Given the description of an element on the screen output the (x, y) to click on. 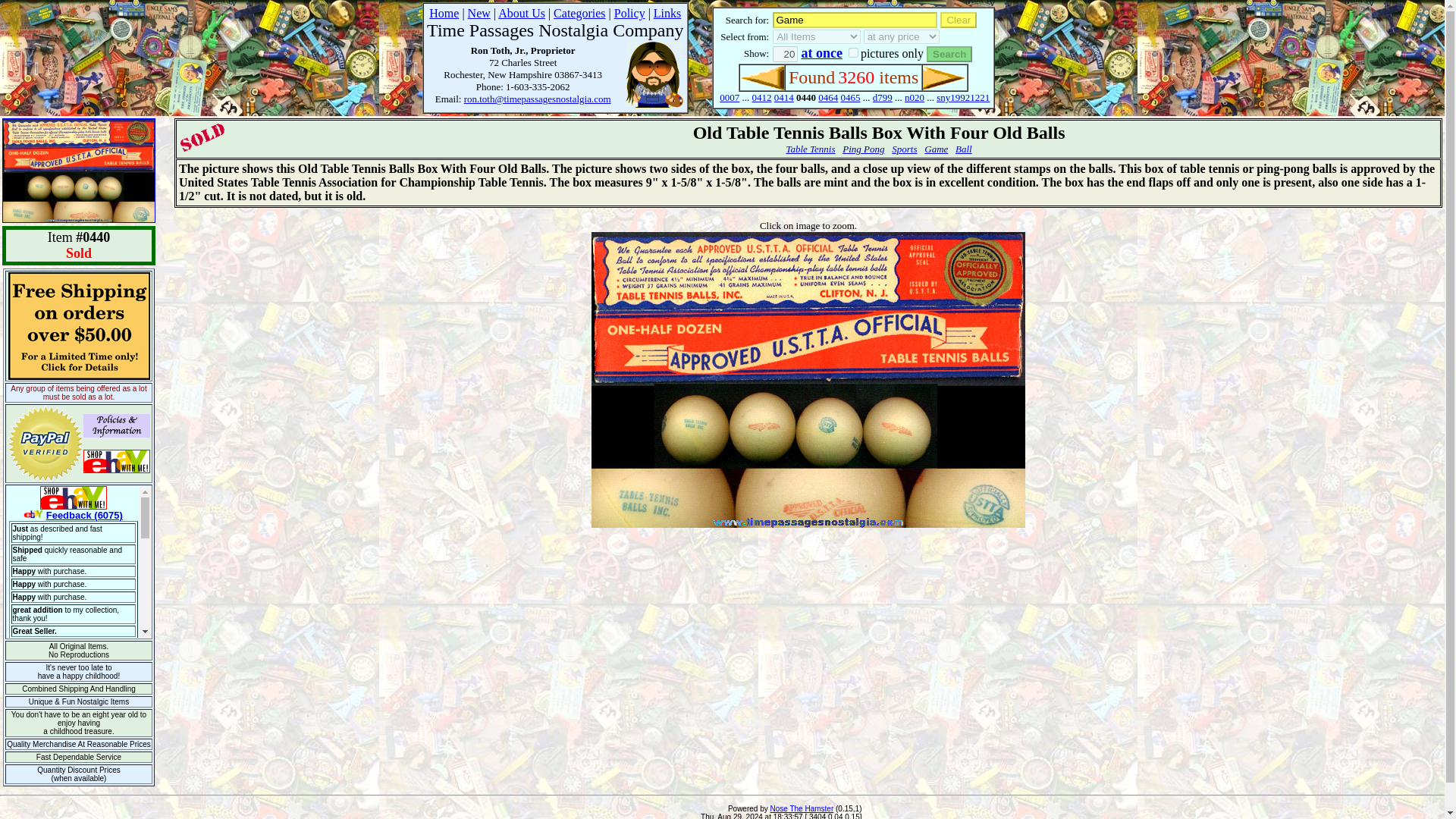
Nose The Hamster (802, 808)
sny19921221 (963, 97)
previous page (761, 77)
Table Tennis (810, 148)
Click here now for this limited time offer (78, 325)
d799 (882, 97)
Categories (579, 12)
Game (855, 19)
This item is already sold (202, 137)
at once (820, 52)
